Given the description of an element on the screen output the (x, y) to click on. 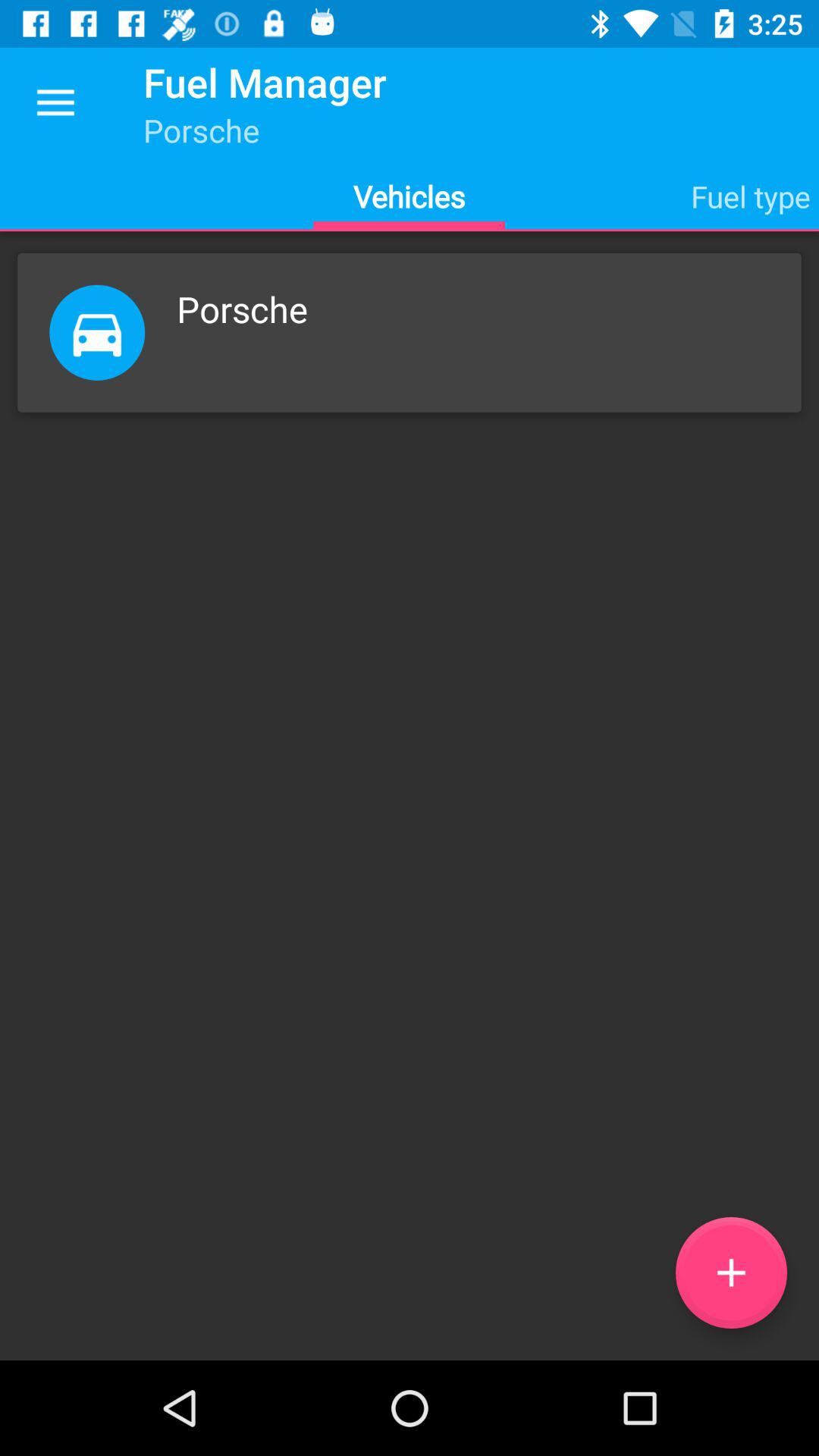
add item (731, 1272)
